Given the description of an element on the screen output the (x, y) to click on. 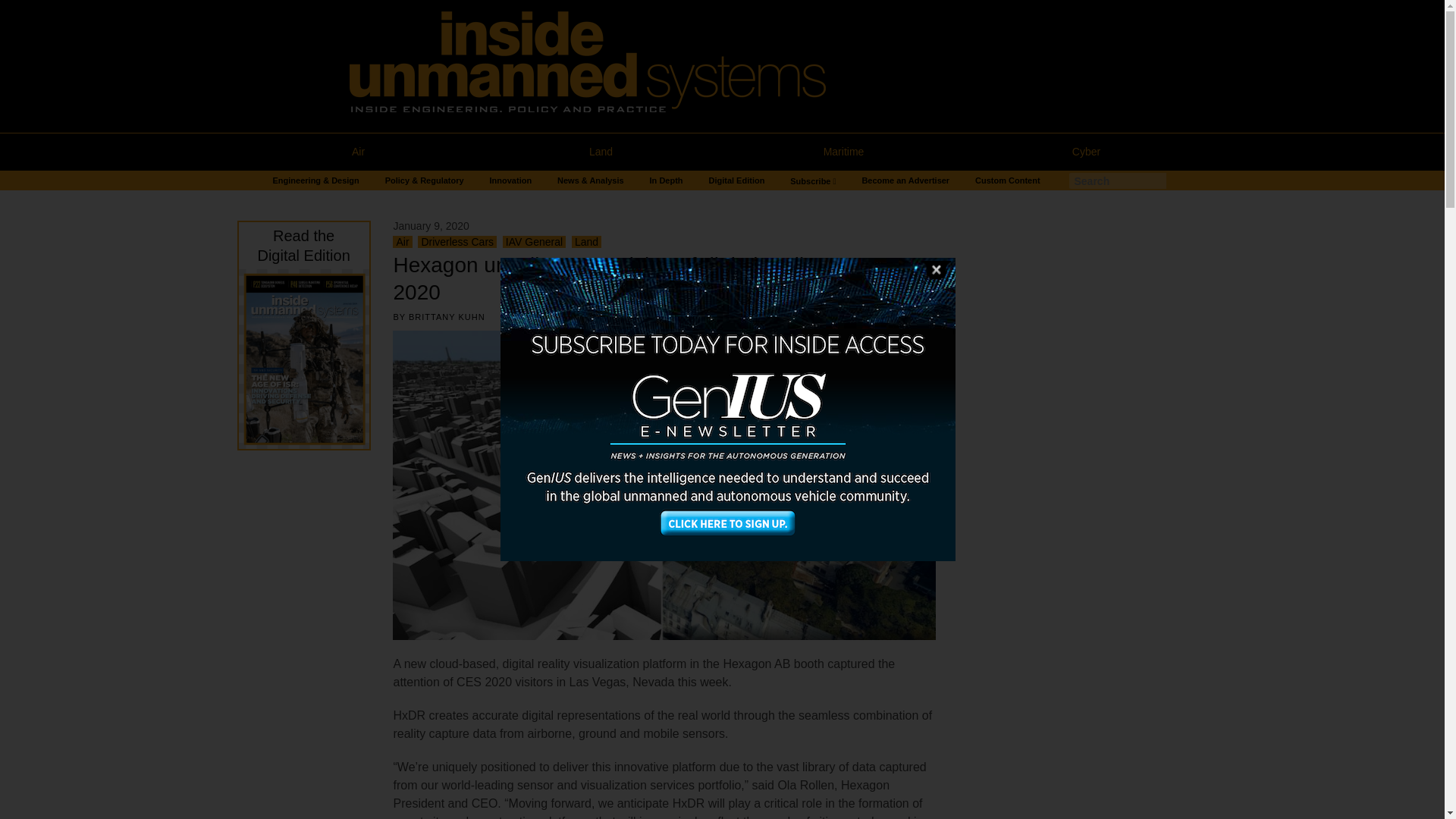
Subscribe (812, 180)
Land (586, 241)
In Depth (666, 180)
Become an Advertiser (905, 180)
Land (600, 151)
Enter Search Terms (1117, 180)
Innovation (511, 180)
Digital Edition (736, 180)
BRITTANY KUHN (446, 316)
Maritime (842, 151)
Air (402, 241)
3rd party ad content (1073, 725)
3rd party ad content (1073, 520)
Air (357, 151)
3rd party ad content (296, 752)
